Given the description of an element on the screen output the (x, y) to click on. 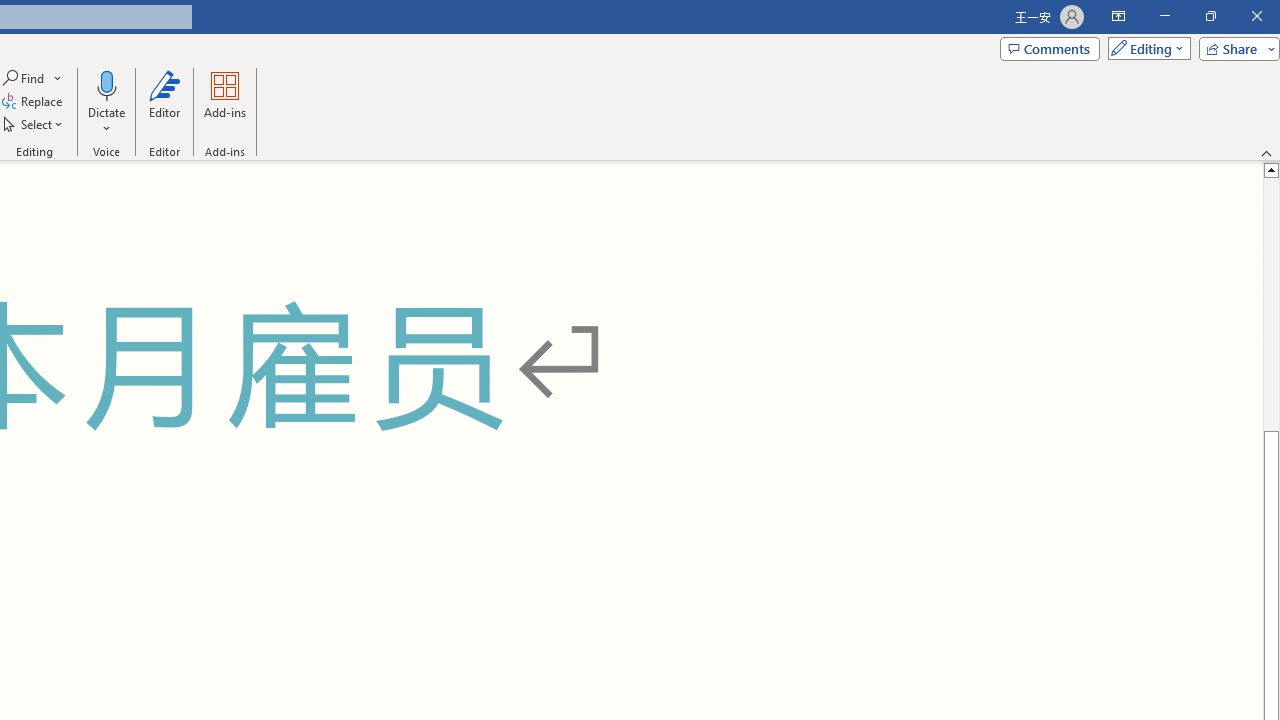
Page up (1271, 304)
Line up (1271, 169)
Editing (1144, 47)
